Given the description of an element on the screen output the (x, y) to click on. 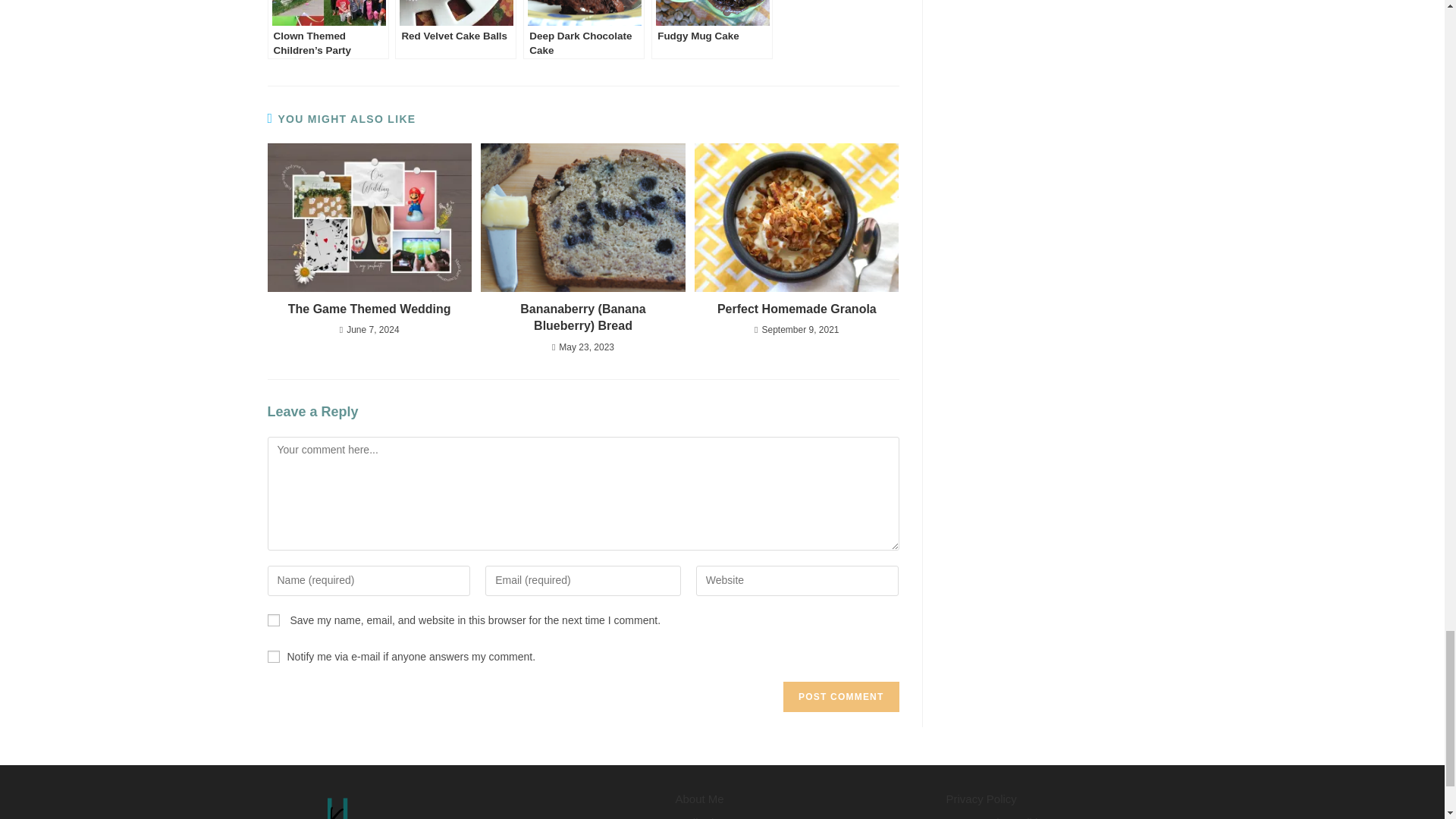
Fudgy Mug Cake (711, 29)
yes (272, 620)
on (272, 656)
Post Comment (840, 696)
Deep Dark Chocolate Cake (583, 29)
Red Velvet Cake Balls (455, 29)
